Given the description of an element on the screen output the (x, y) to click on. 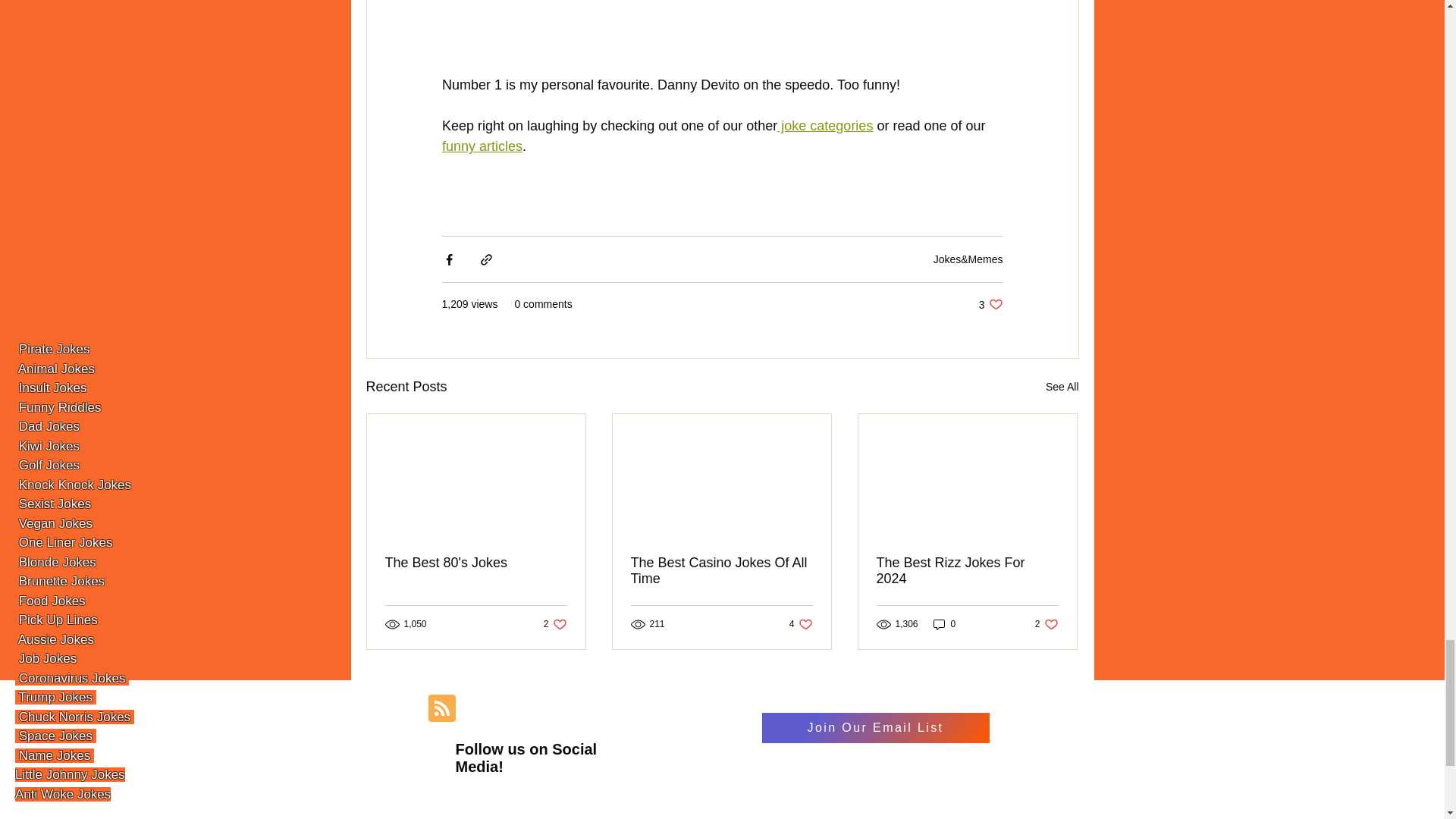
The Best 80's Jokes (476, 562)
 joke categories (824, 125)
The Best Rizz Jokes For 2024 (967, 571)
See All (1061, 386)
The Best Casino Jokes Of All Time (1046, 624)
funny articles (721, 571)
0 (800, 624)
